Given the description of an element on the screen output the (x, y) to click on. 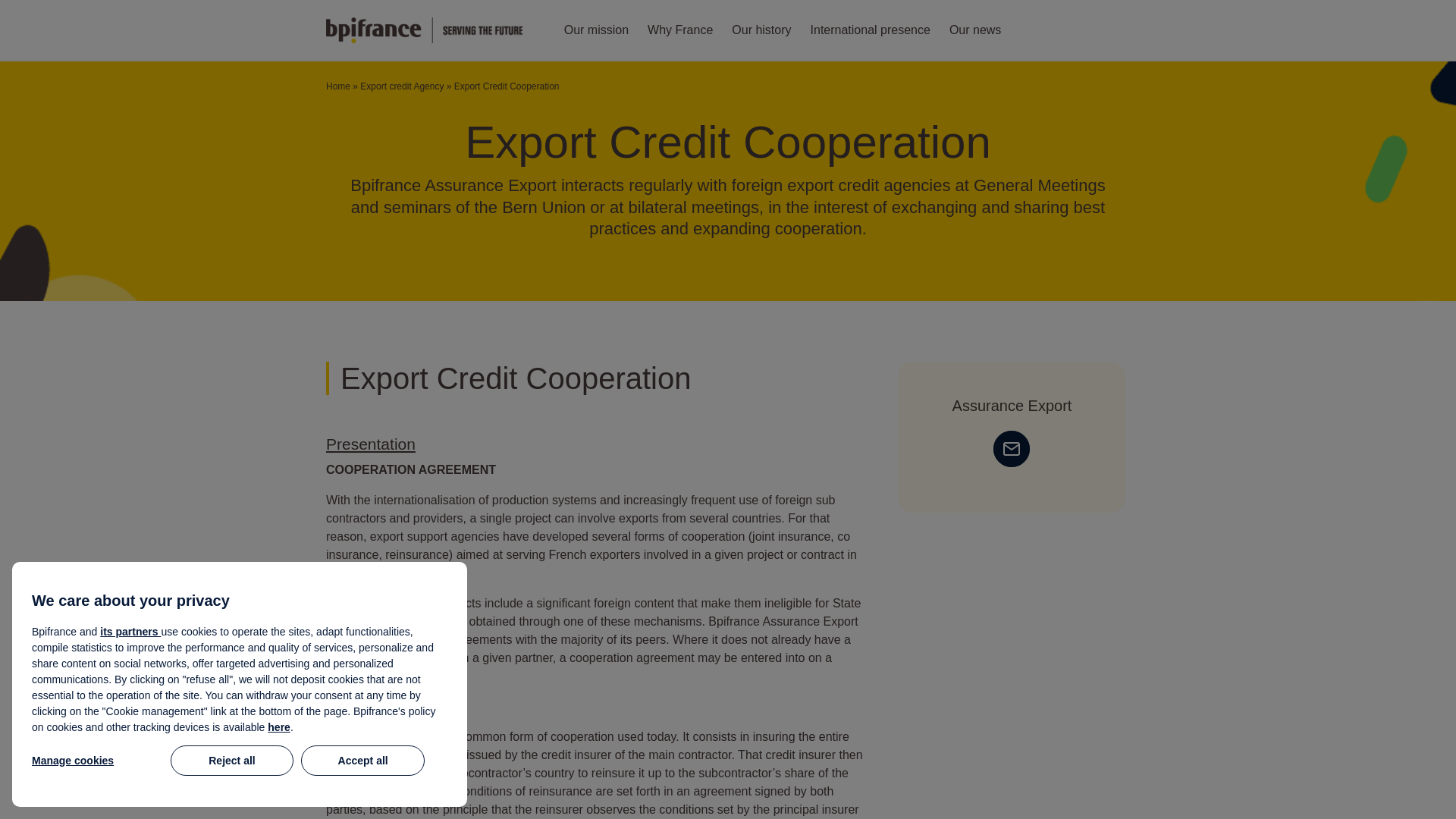
Our mission (595, 30)
Logo Bpi Serving The Future (424, 29)
Accept all (363, 760)
Assurance Export (1011, 405)
Our history (760, 30)
Our news (975, 30)
International presence (870, 30)
Manage cookies (97, 760)
Home (338, 86)
Why France (680, 30)
